Given the description of an element on the screen output the (x, y) to click on. 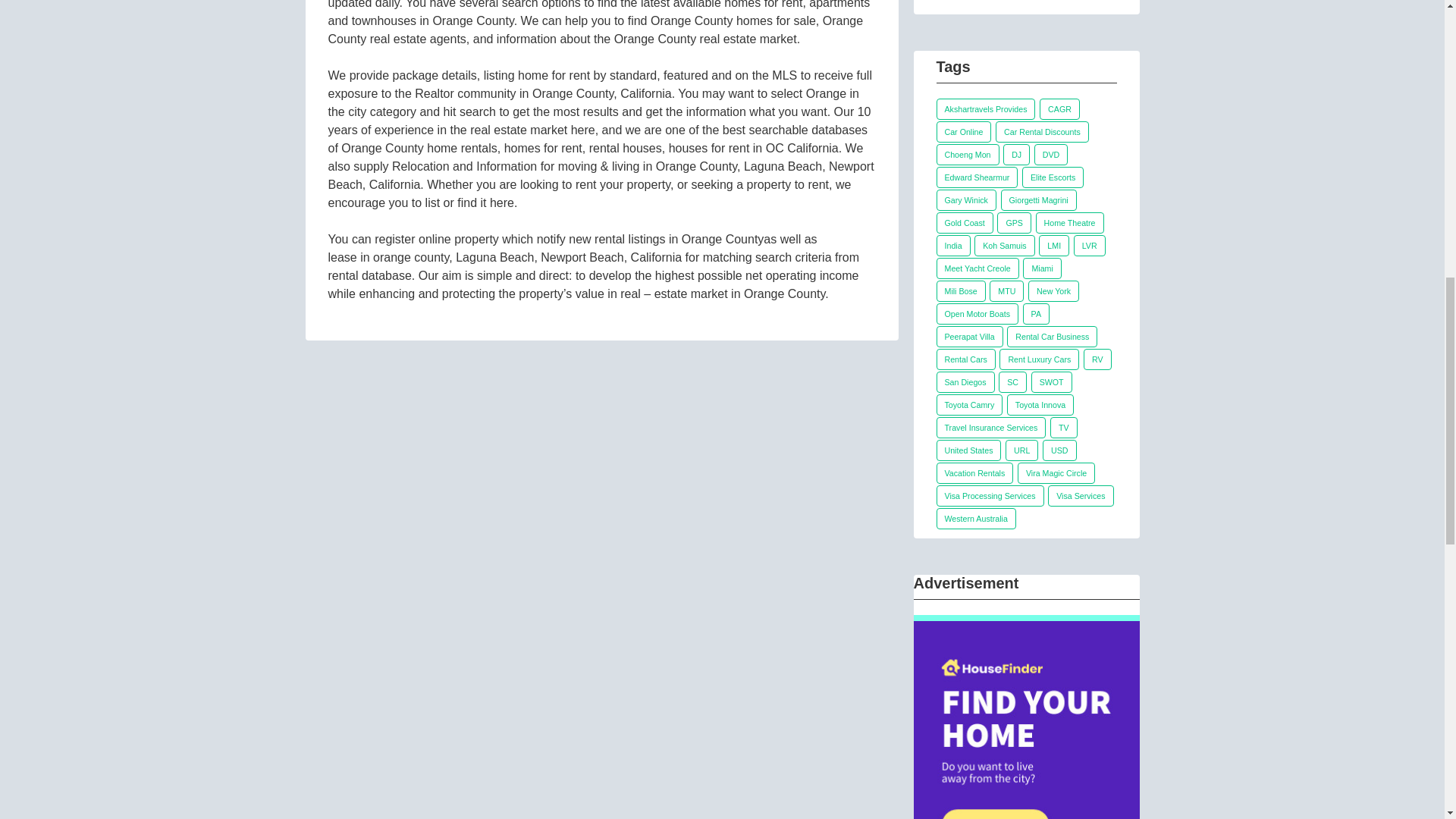
Akshartravels Provides (985, 108)
Choeng Mon (967, 154)
Koh Samuis (1003, 245)
DJ (1016, 154)
Elite Escorts (1052, 177)
Gold Coast (964, 222)
Car Online (963, 131)
DVD (1050, 154)
Gary Winick (965, 199)
Home Theatre (1069, 222)
CAGR (1059, 108)
GPS (1013, 222)
Giorgetti Magrini (1039, 199)
Car Rental Discounts (1042, 131)
India (952, 245)
